Given the description of an element on the screen output the (x, y) to click on. 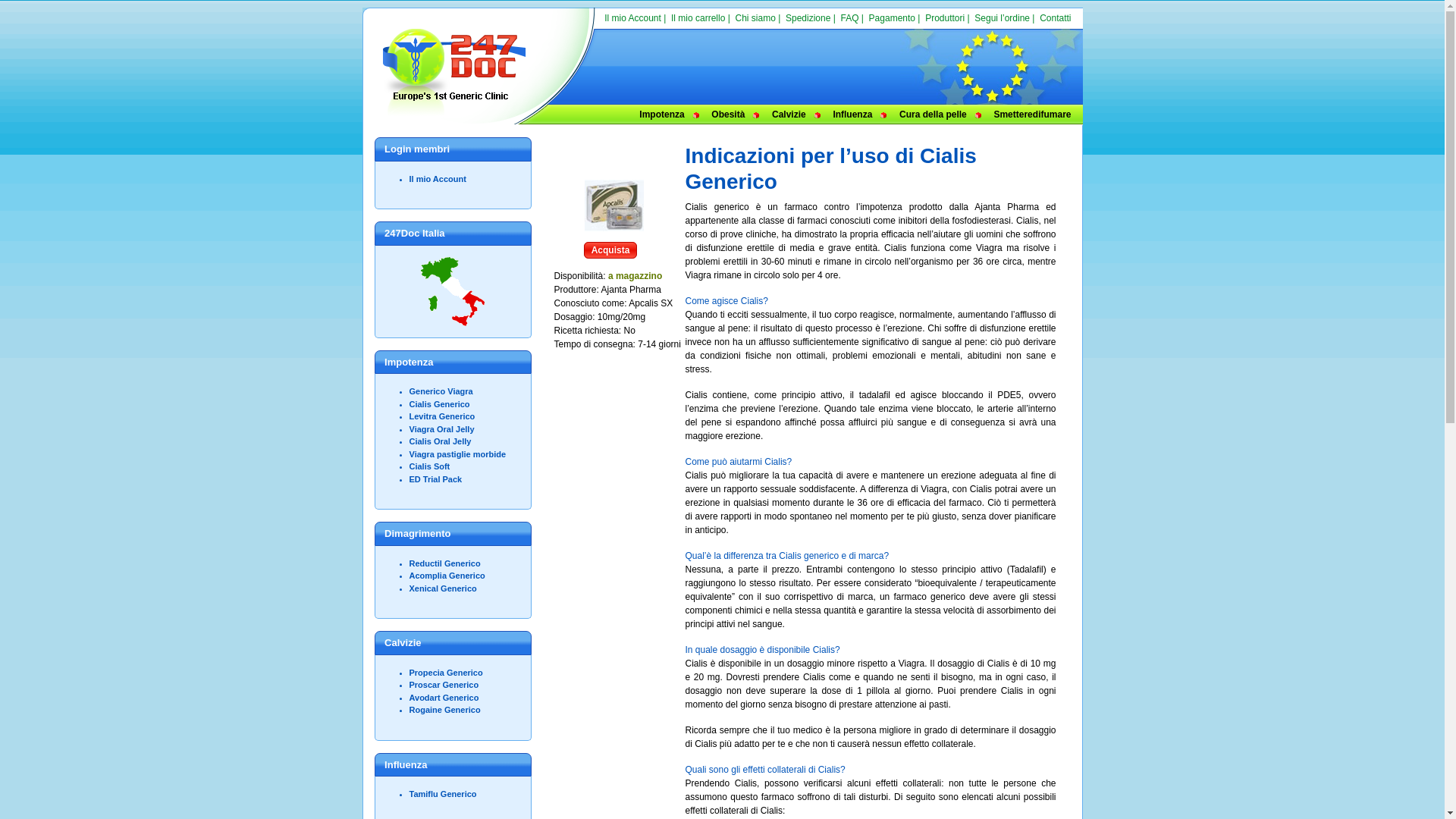
Cialis Generico Element type: text (439, 402)
Reductil Generico Element type: text (444, 562)
Viagra Oral Jelly Element type: text (441, 428)
Levitra Generico Element type: text (442, 415)
Acquista Element type: text (610, 249)
Avodart Generico Element type: text (444, 697)
Impotenza Element type: text (661, 114)
Smetteredifumare Element type: text (1031, 114)
ED Trial Pack Element type: text (435, 478)
Contatti Element type: text (1054, 17)
Cialis Oral Jelly Element type: text (440, 440)
Calvizie Element type: text (788, 114)
Chi siamo Element type: text (754, 17)
Influenza Element type: text (852, 114)
Tamiflu Generico Element type: text (442, 793)
Spedizione Element type: text (807, 17)
Il mio Account Element type: text (437, 178)
Generico Viagra Element type: text (441, 390)
Pagamento Element type: text (892, 17)
Il mio Account Element type: text (632, 17)
Il mio carrello Element type: text (697, 17)
Xenical Generico Element type: text (442, 588)
Proscar Generico Element type: text (444, 684)
Rogaine Generico Element type: text (444, 709)
FAQ Element type: text (849, 17)
Cura della pelle Element type: text (932, 114)
Produttori Element type: text (944, 17)
Propecia Generico Element type: text (446, 671)
Cialis Soft Element type: text (429, 465)
Viagra pastiglie morbide Element type: text (457, 453)
Acomplia Generico Element type: text (447, 575)
